Given the description of an element on the screen output the (x, y) to click on. 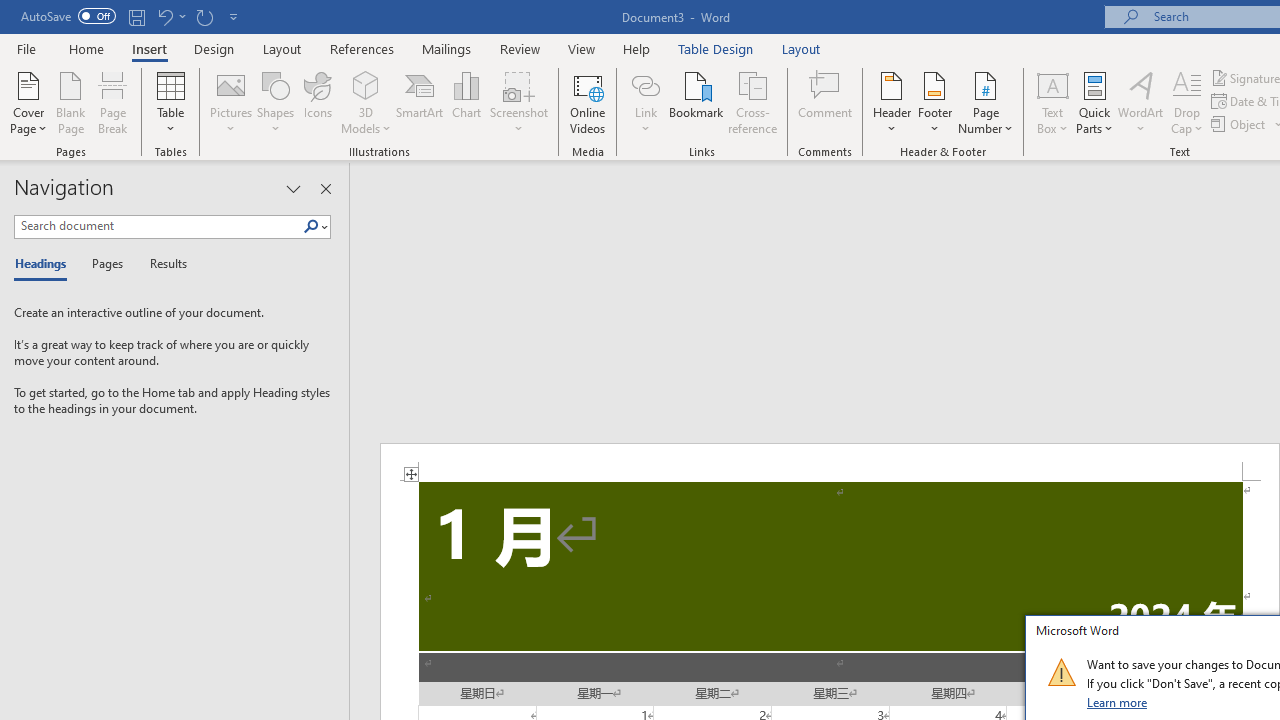
Learn more (1118, 702)
SmartArt... (419, 102)
Cover Page (28, 102)
Online Videos... (588, 102)
Table (170, 102)
